Given the description of an element on the screen output the (x, y) to click on. 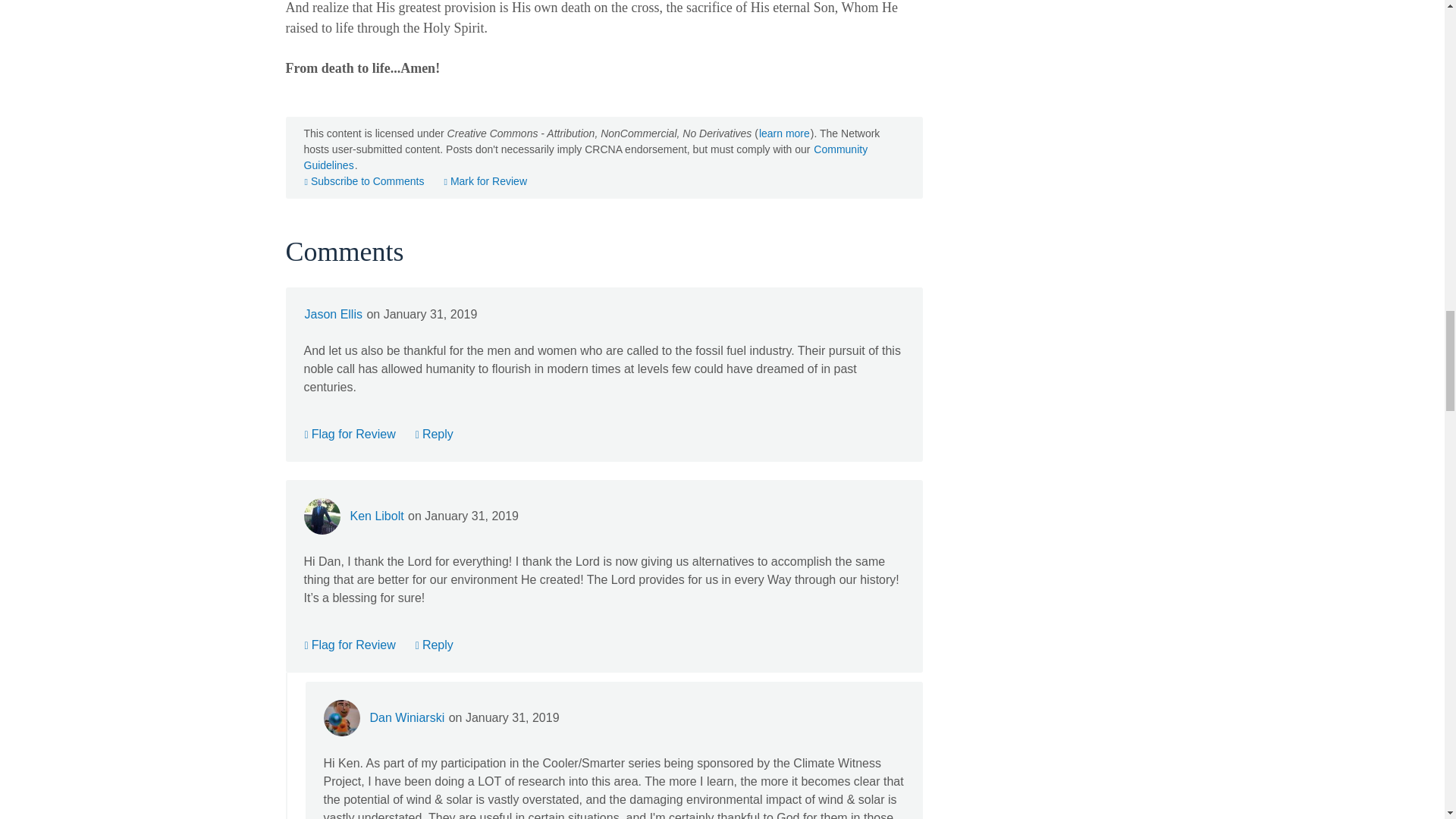
Dan Winiarski (406, 717)
Flag for Review (349, 433)
View user profile. (376, 515)
Reply (434, 644)
Flag for Review (349, 644)
learn more (784, 133)
Jason Ellis (332, 314)
Community Guidelines (584, 156)
Reply (434, 433)
Ken Libolt (376, 515)
View user profile. (332, 314)
Subscribe to Comments (363, 181)
Mark for Review (484, 181)
View user profile. (406, 717)
